Given the description of an element on the screen output the (x, y) to click on. 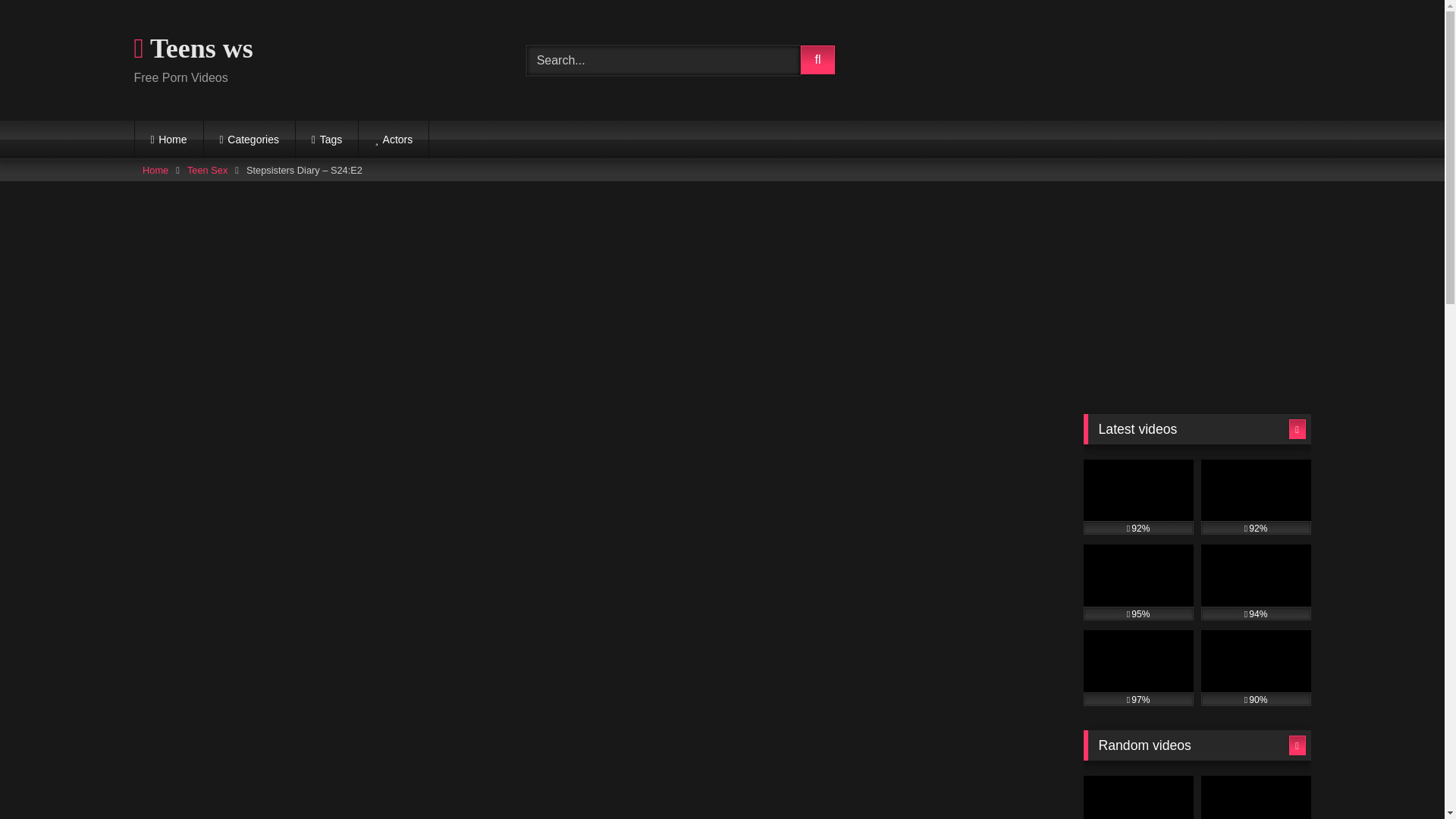
Actors (393, 139)
Search... (662, 60)
Teens ws (192, 47)
Categories (249, 139)
Teen Sex (207, 169)
Home (155, 169)
Home (169, 139)
Tags (326, 139)
